Given the description of an element on the screen output the (x, y) to click on. 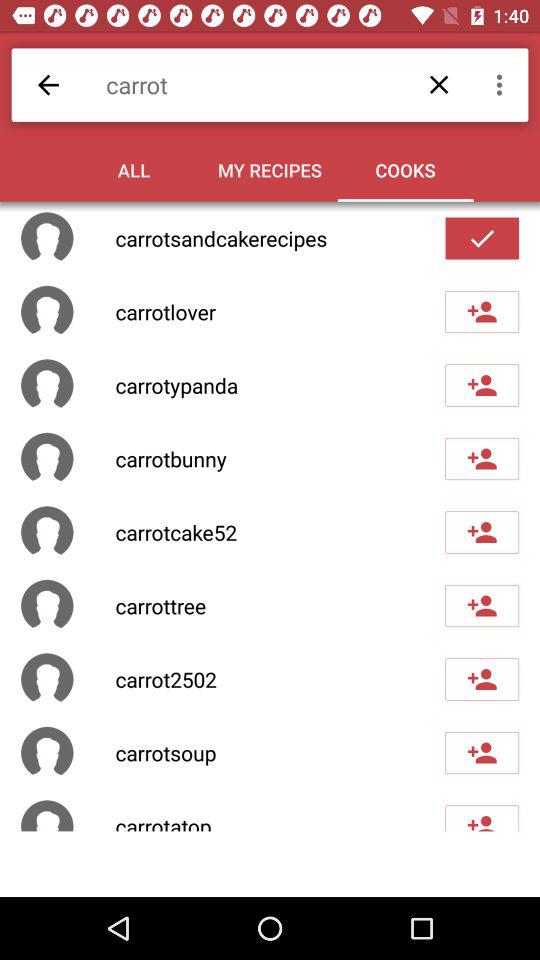
add people (482, 385)
